Given the description of an element on the screen output the (x, y) to click on. 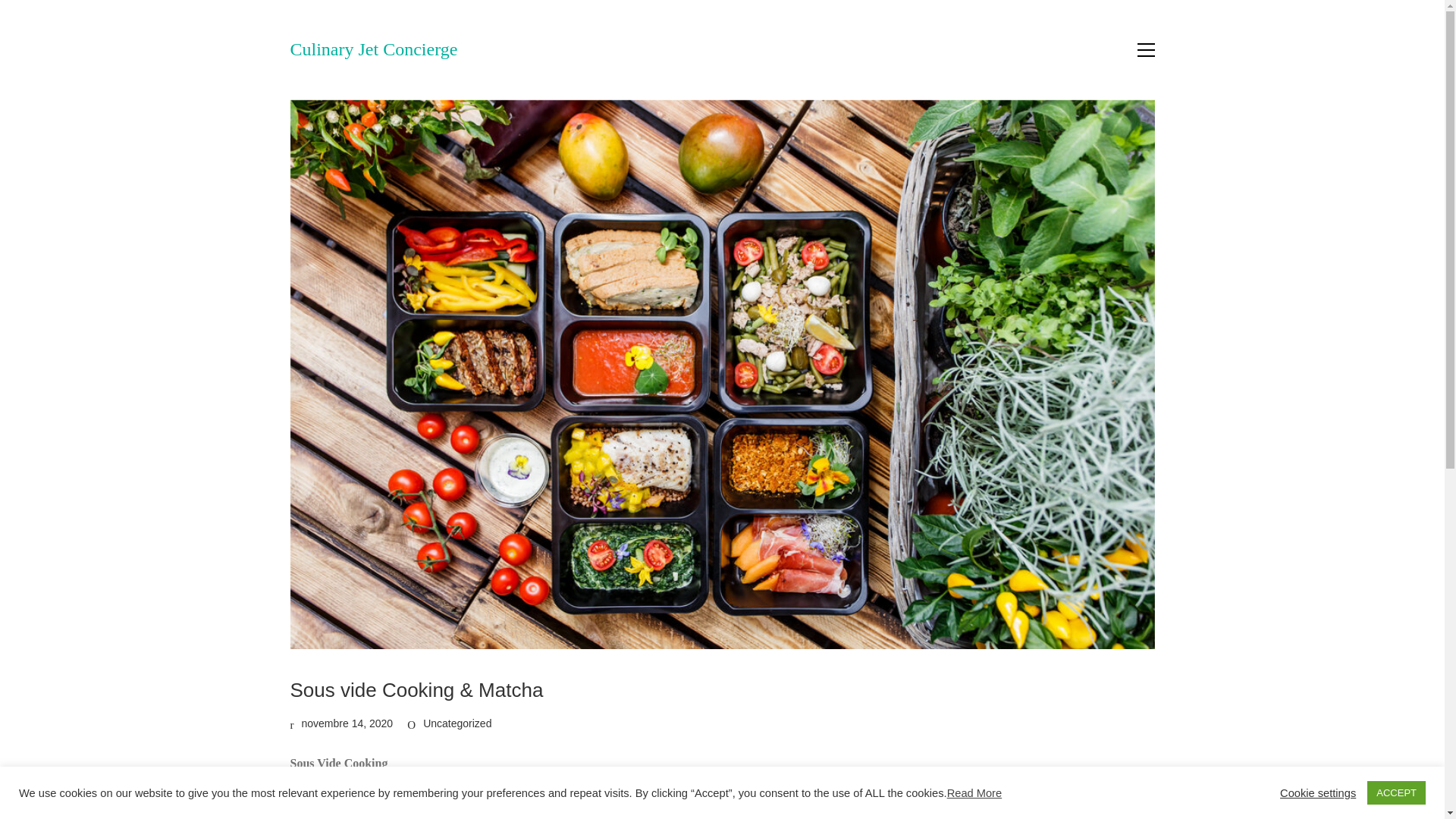
Cookie settings (1317, 792)
Culinary Jet Concierge (373, 49)
Read More (975, 793)
ACCEPT (1396, 792)
Uncategorized (457, 723)
